Given the description of an element on the screen output the (x, y) to click on. 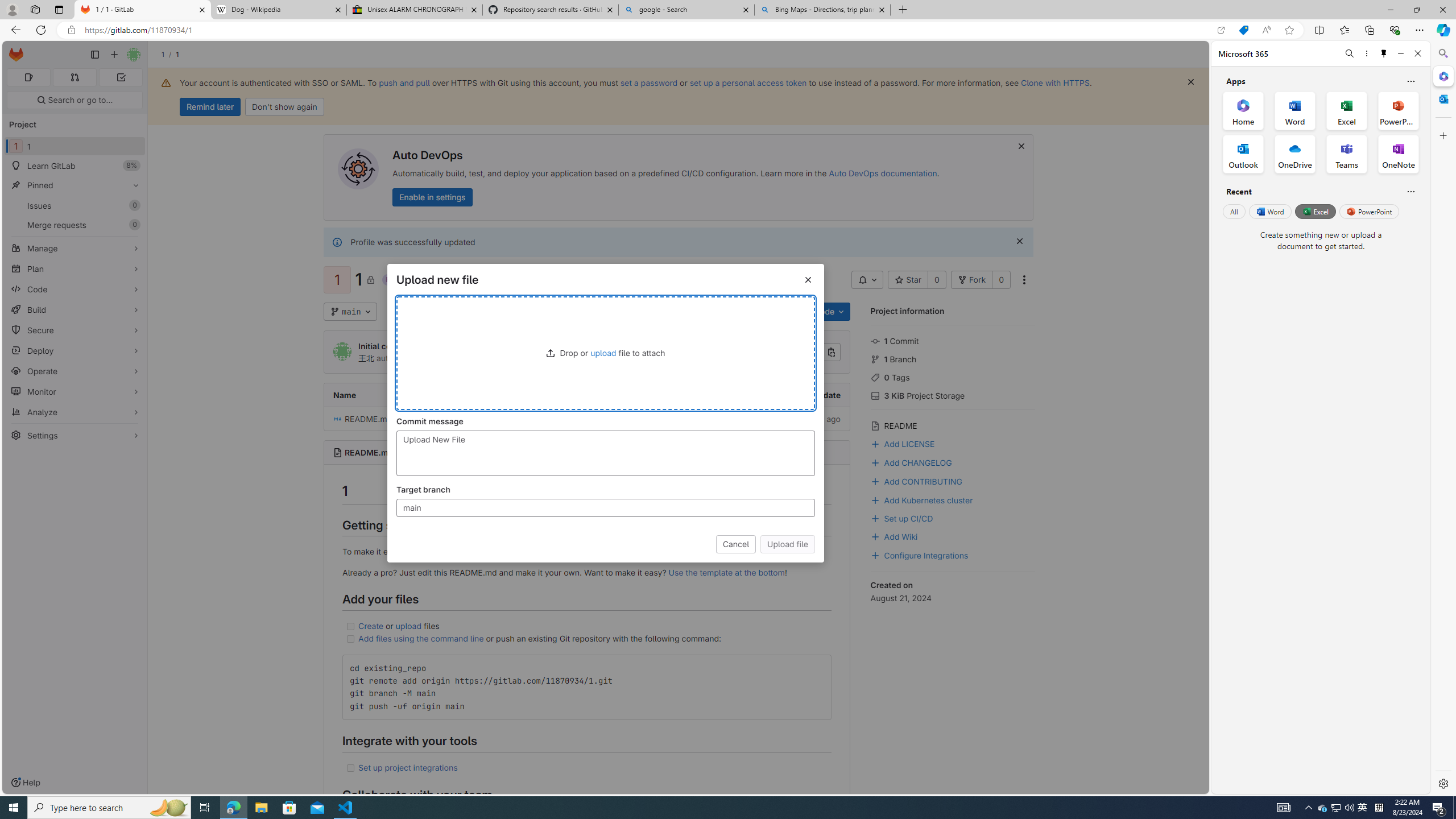
README (952, 424)
PowerPoint Office App (1398, 110)
Don't show again (284, 106)
Dog - Wikipedia (277, 9)
1 (389, 311)
Word (1269, 210)
Open in app (1220, 29)
Add CHANGELOG (952, 461)
Enable in settings (433, 197)
Code (828, 311)
